Given the description of an element on the screen output the (x, y) to click on. 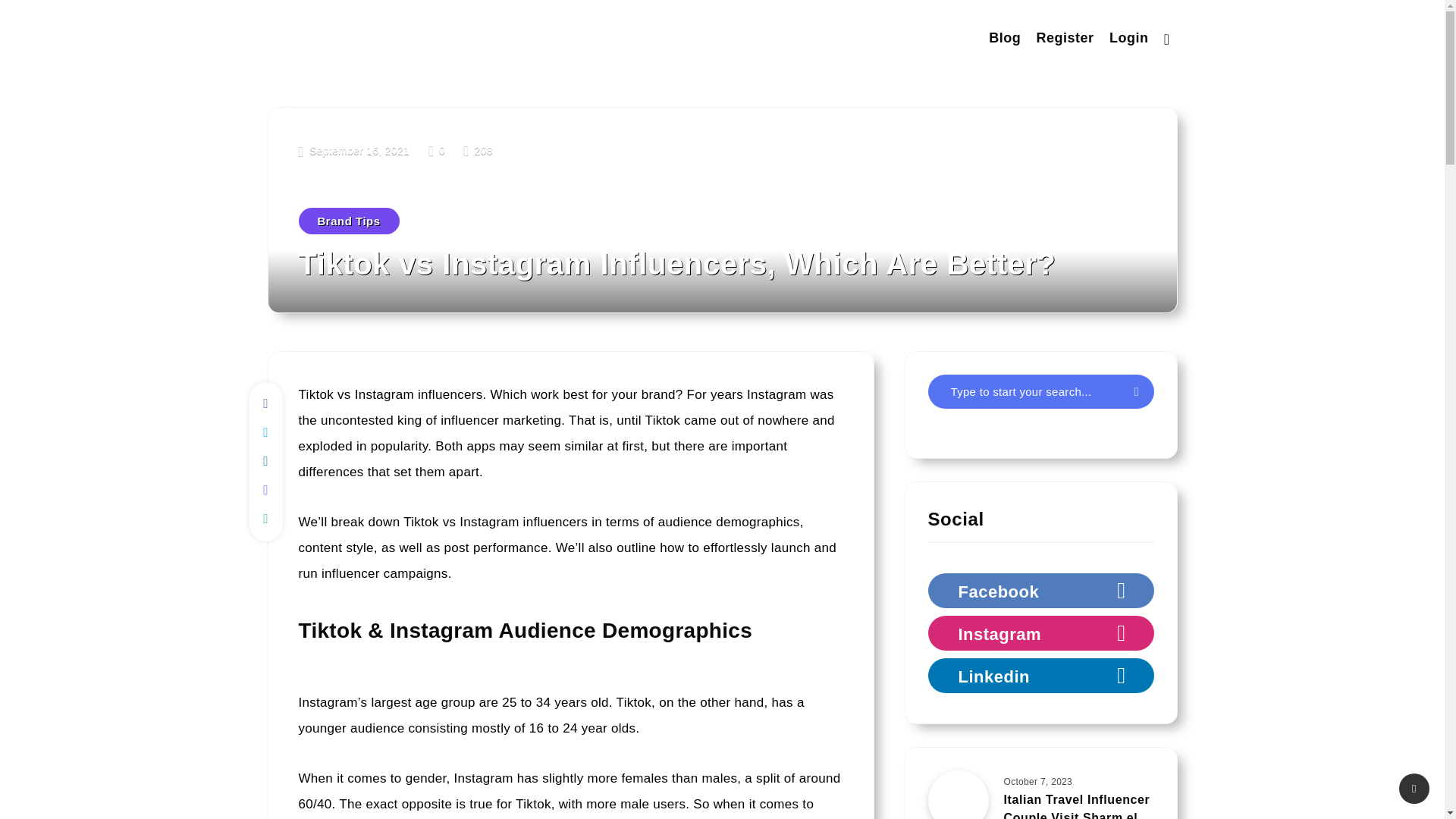
Italian Travel Influencer Couple Visit Sharm el Sheikh (1077, 806)
Brand Tips (348, 221)
Login (1128, 39)
0 (438, 150)
Facebook (1041, 590)
Register (1065, 39)
Linkedin (1041, 675)
Instagram (1041, 632)
Blog (1004, 39)
Go to comments (438, 150)
